Given the description of an element on the screen output the (x, y) to click on. 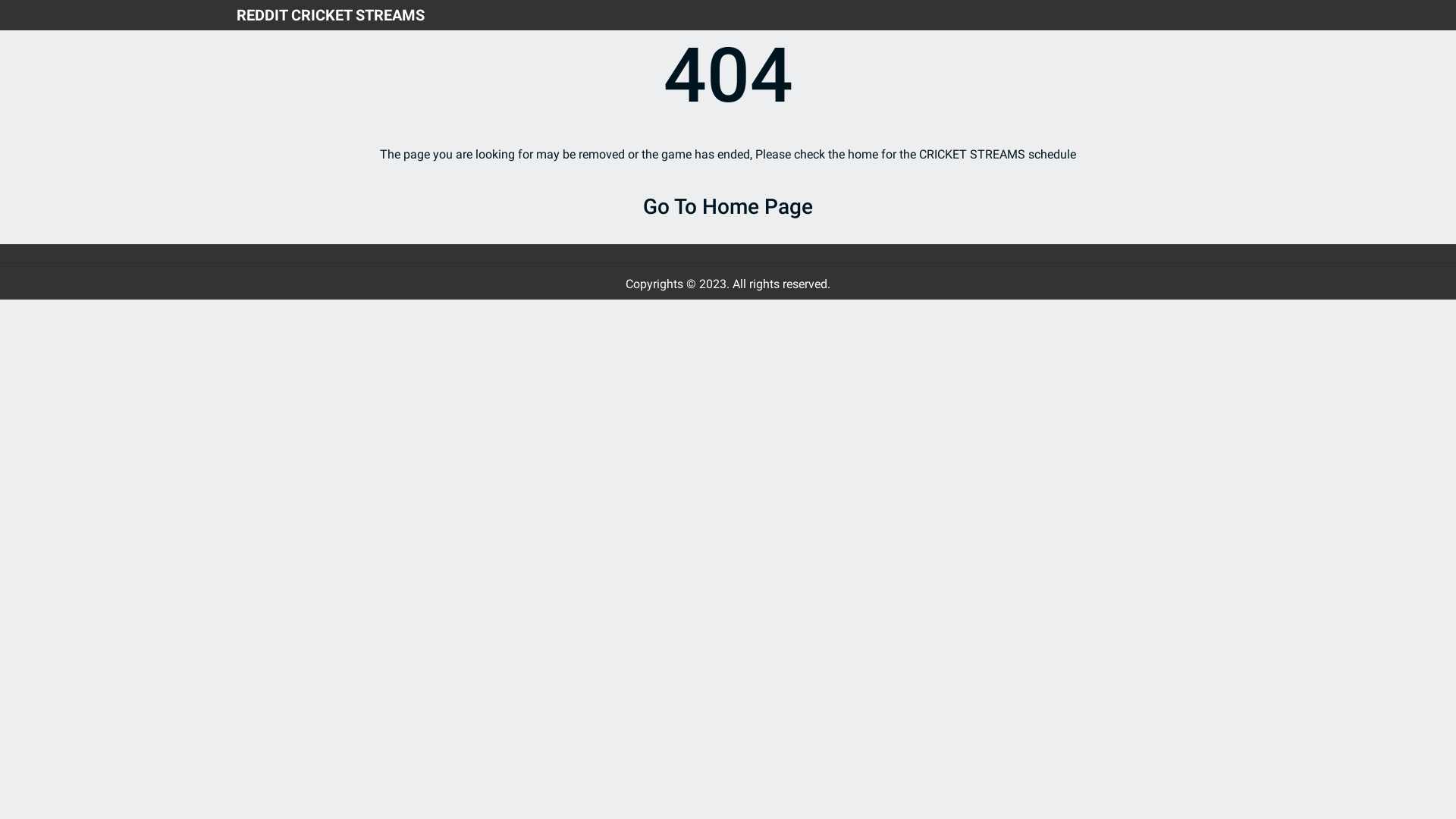
Go To Home Page Element type: text (727, 206)
CRICKET STREAMS schedule Element type: text (997, 154)
REDDIT CRICKET STREAMS Element type: text (330, 15)
